Given the description of an element on the screen output the (x, y) to click on. 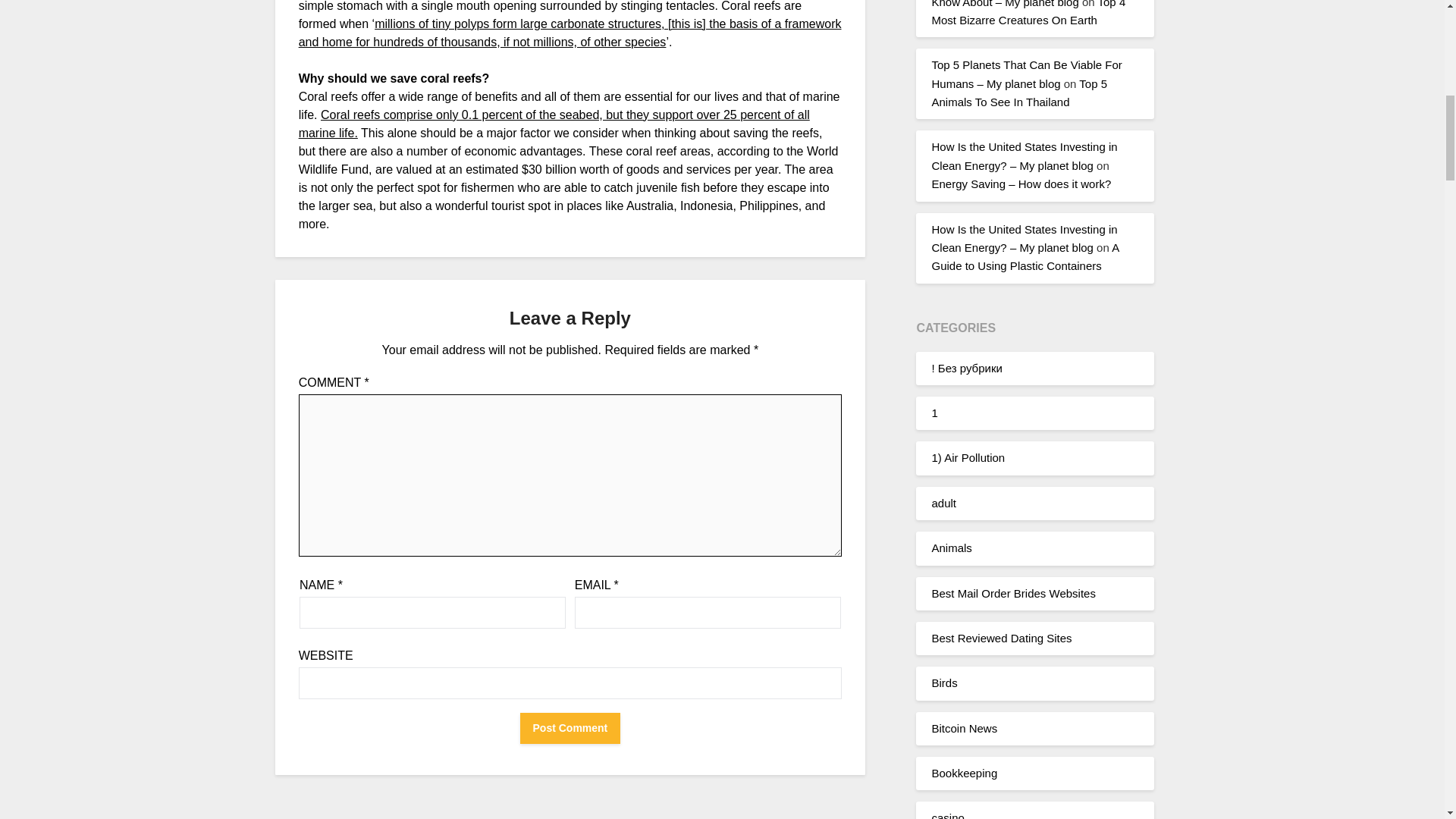
Post Comment (570, 727)
Post Comment (570, 727)
adult (943, 502)
A Guide to Using Plastic Containers (1024, 255)
Animals (951, 547)
Top 5 Animals To See In Thailand (1018, 92)
Top 4 Most Bizarre Creatures On Earth (1028, 13)
